Given the description of an element on the screen output the (x, y) to click on. 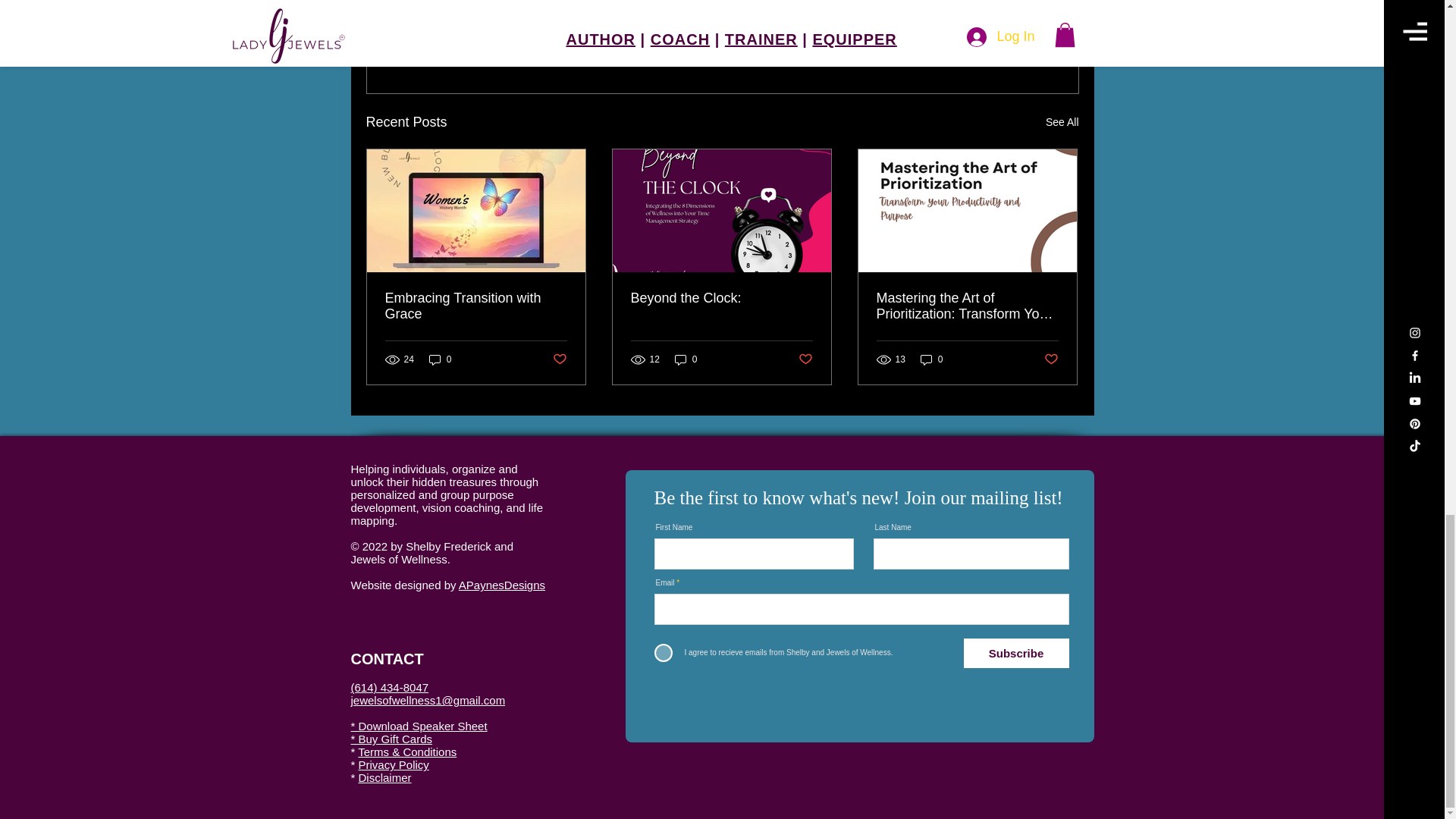
See All (990, 39)
Embracing Transition with Grace (1061, 122)
0 (476, 306)
